Given the description of an element on the screen output the (x, y) to click on. 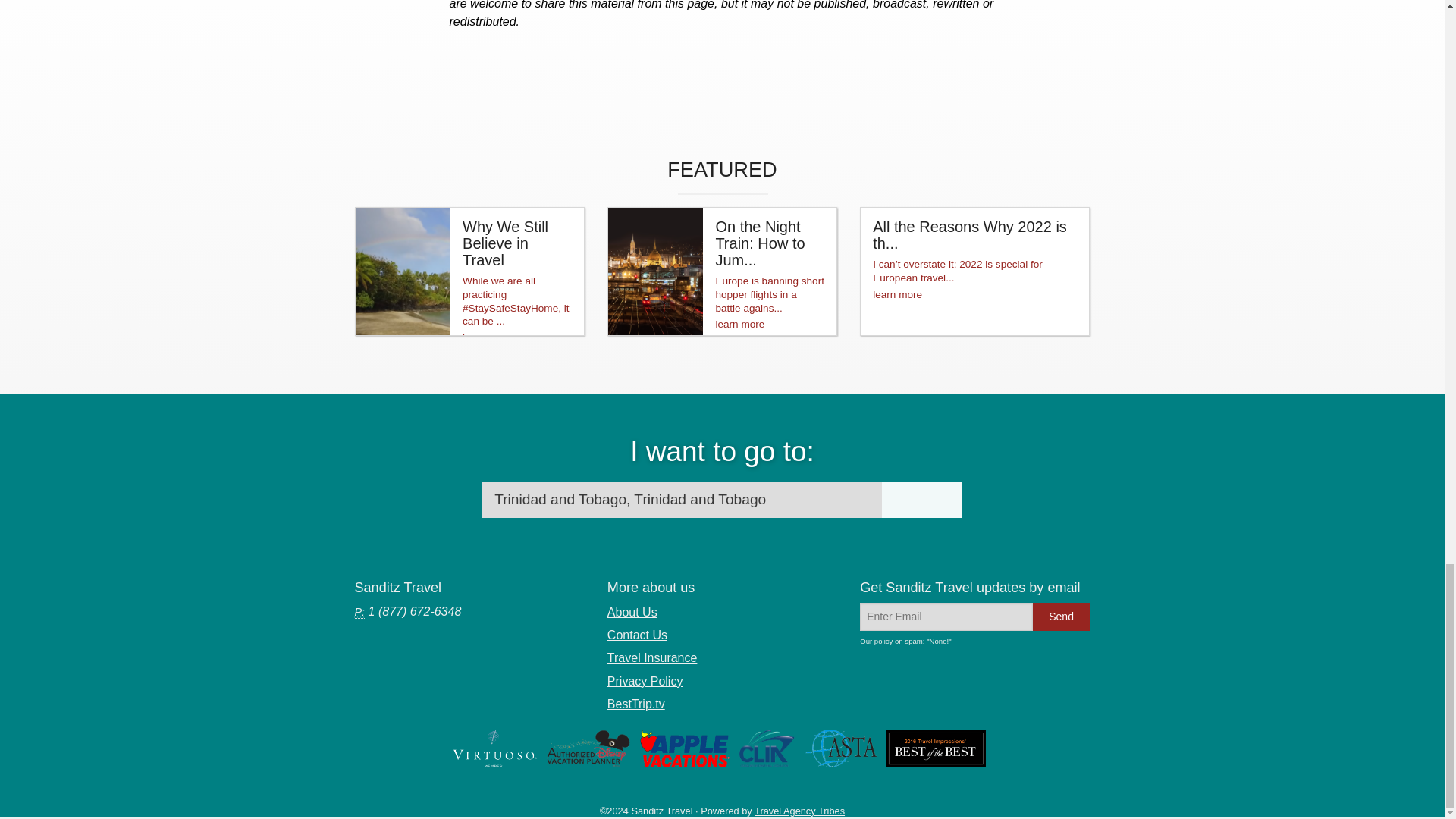
Phone (360, 612)
2016 Travel Impressions Best of the Best Agency (935, 748)
Trinidad and Tobago, Trinidad and Tobago (681, 499)
Virtuoso (494, 748)
Apple Vacations Platinum Agency (684, 748)
Disney Earmarked Agency (588, 748)
